Given the description of an element on the screen output the (x, y) to click on. 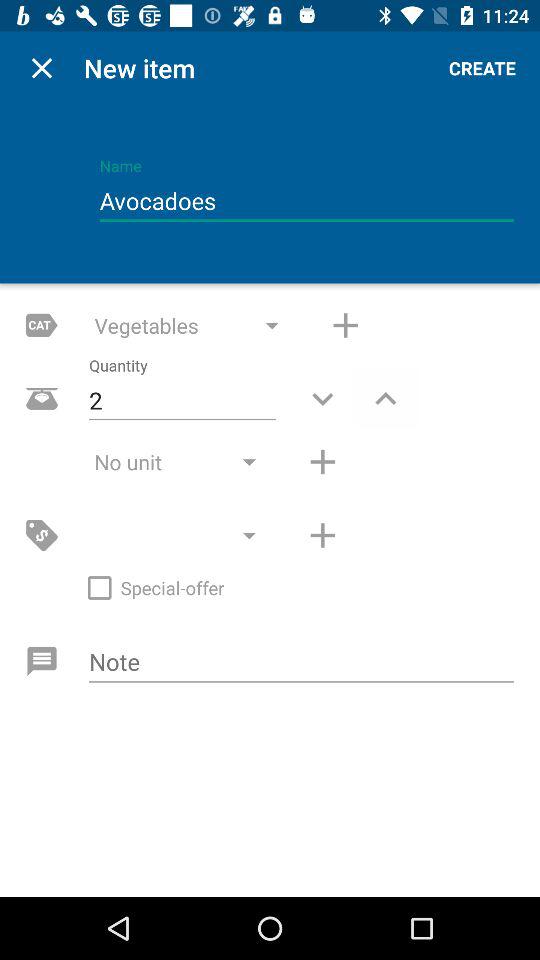
decrease quantity (322, 398)
